Given the description of an element on the screen output the (x, y) to click on. 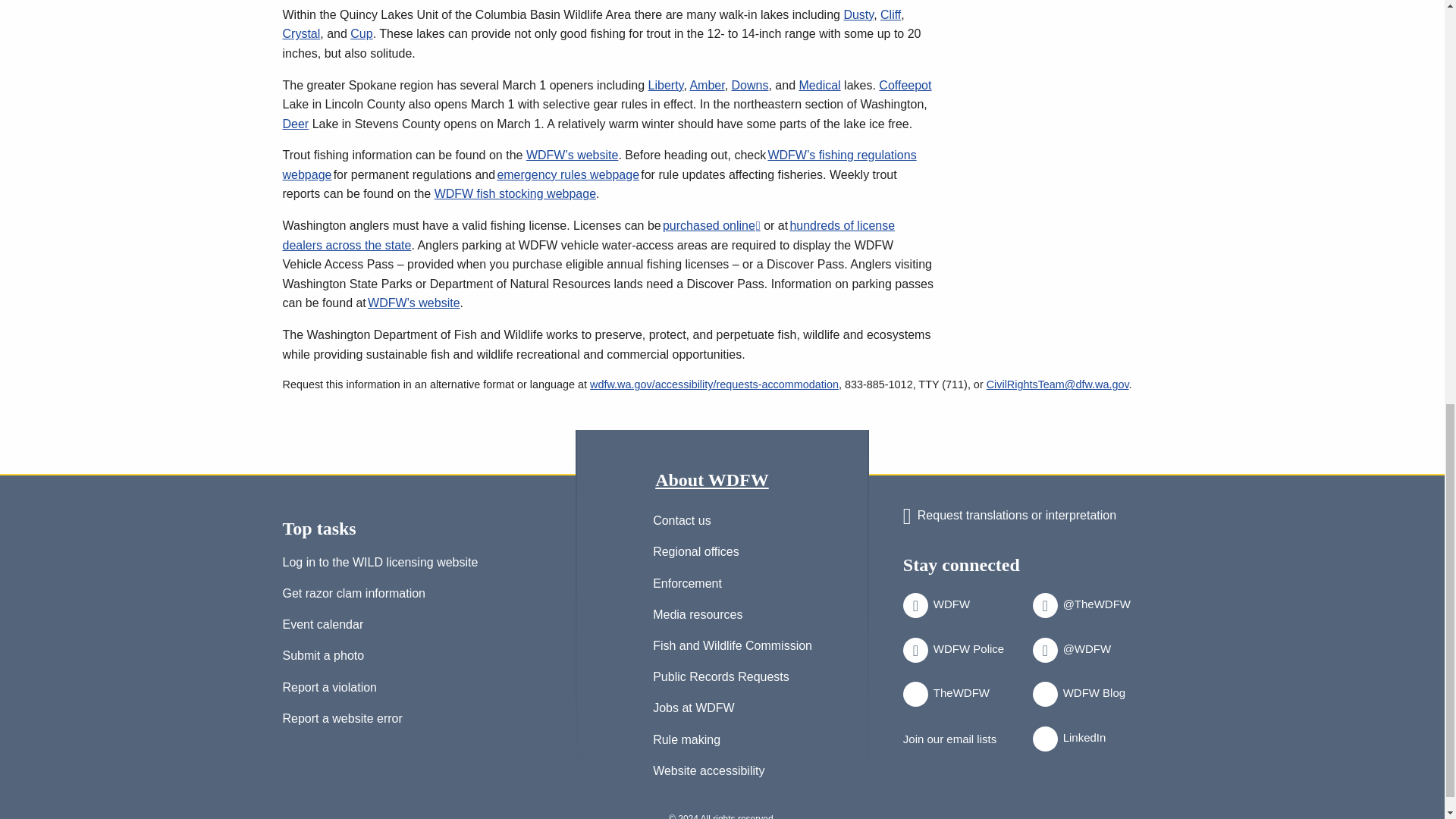
Request translations or interpretation  (1009, 515)
Find WDFW regional offices (695, 554)
Public records requests (720, 679)
